Given the description of an element on the screen output the (x, y) to click on. 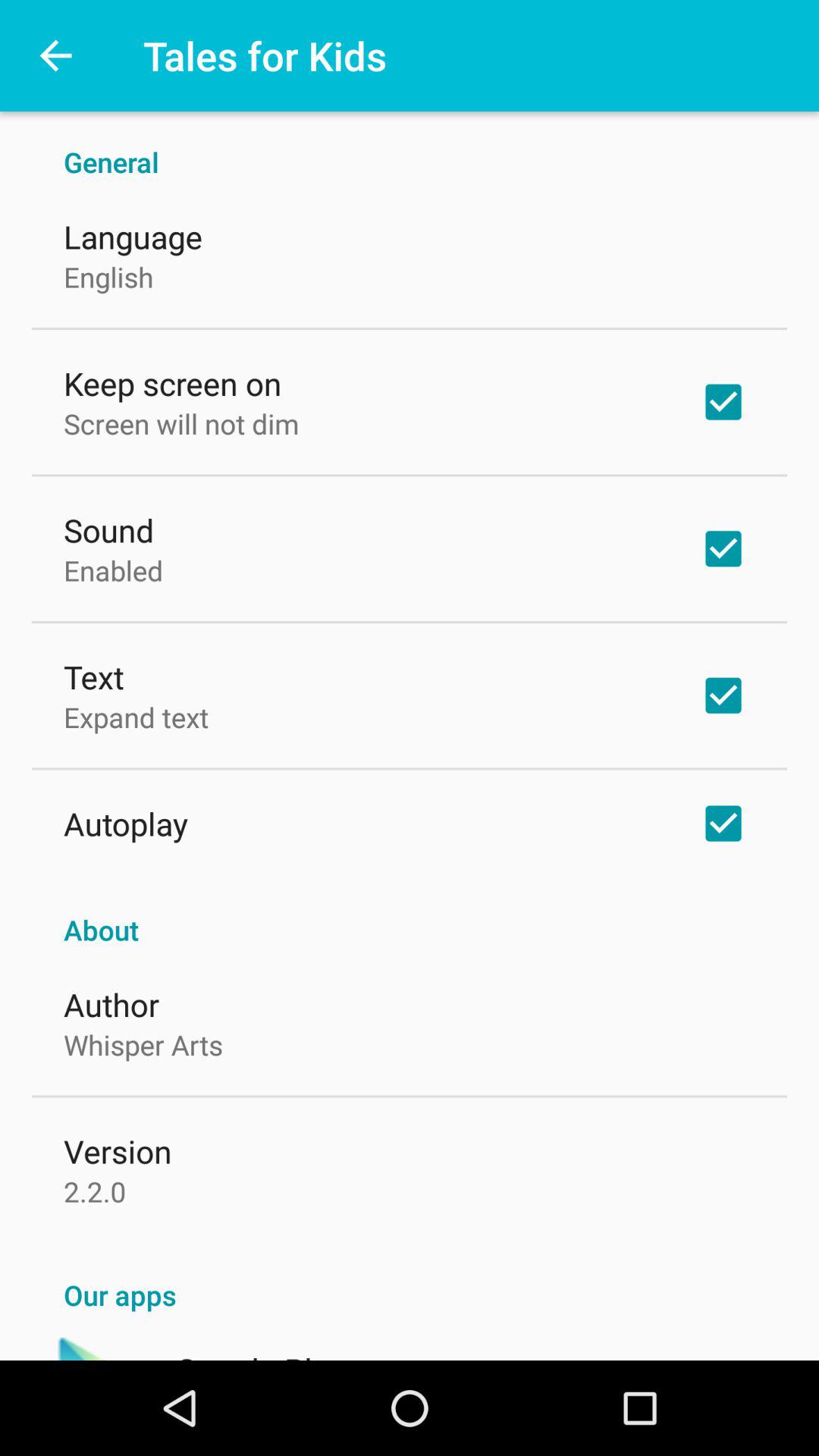
swipe to the sound icon (108, 529)
